Given the description of an element on the screen output the (x, y) to click on. 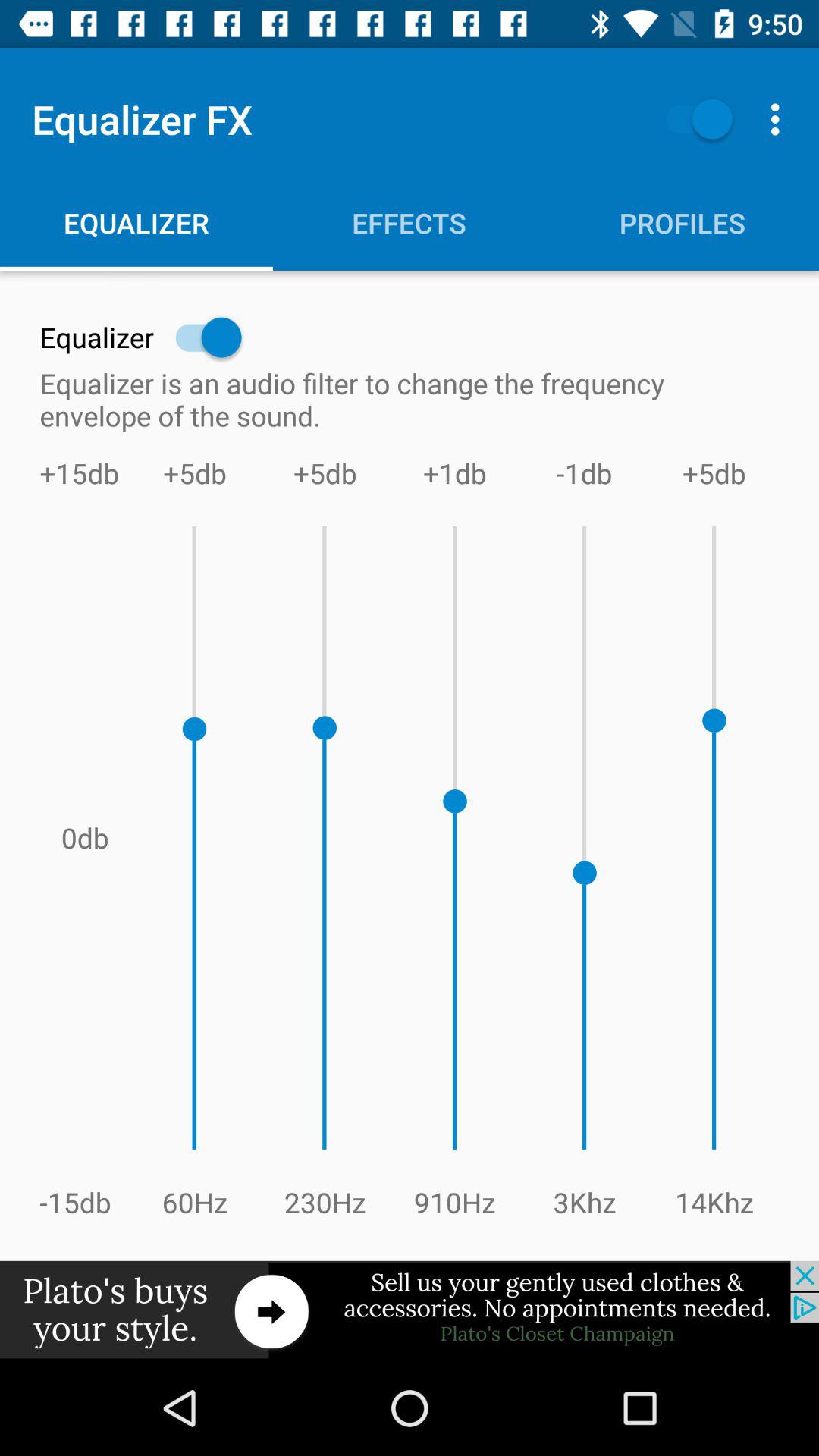
turns off that sound (691, 119)
